Given the description of an element on the screen output the (x, y) to click on. 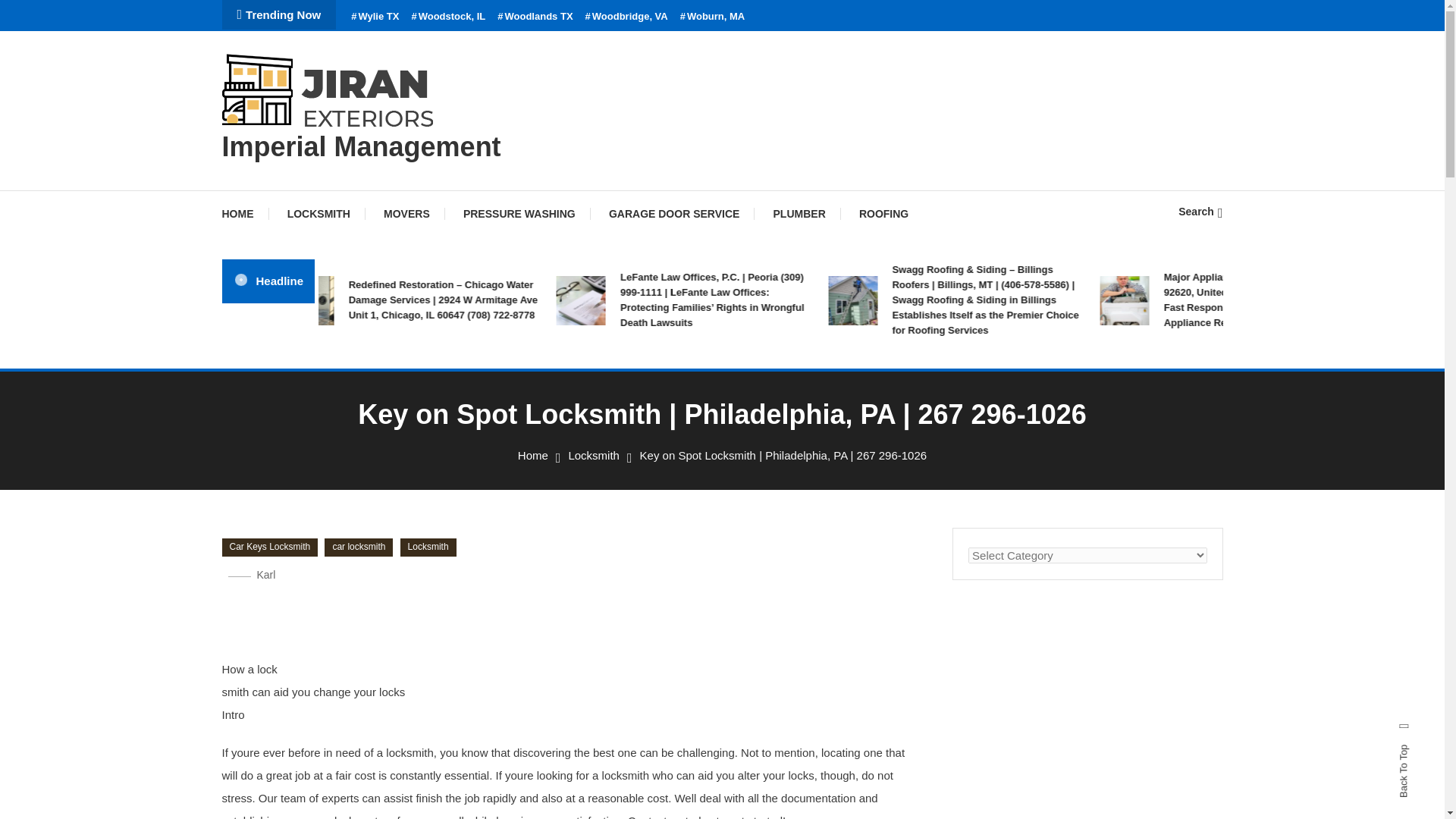
GARAGE DOOR SERVICE (674, 213)
Search (768, 434)
Woodstock, IL (447, 16)
Search (1200, 211)
Wylie TX (374, 16)
HOME (244, 213)
Imperial Management (360, 146)
Home (533, 454)
Woburn, MA (712, 16)
Woodbridge, VA (626, 16)
PLUMBER (799, 213)
Locksmith (593, 454)
PRESSURE WASHING (519, 213)
Car Keys Locksmith (269, 547)
MOVERS (406, 213)
